Given the description of an element on the screen output the (x, y) to click on. 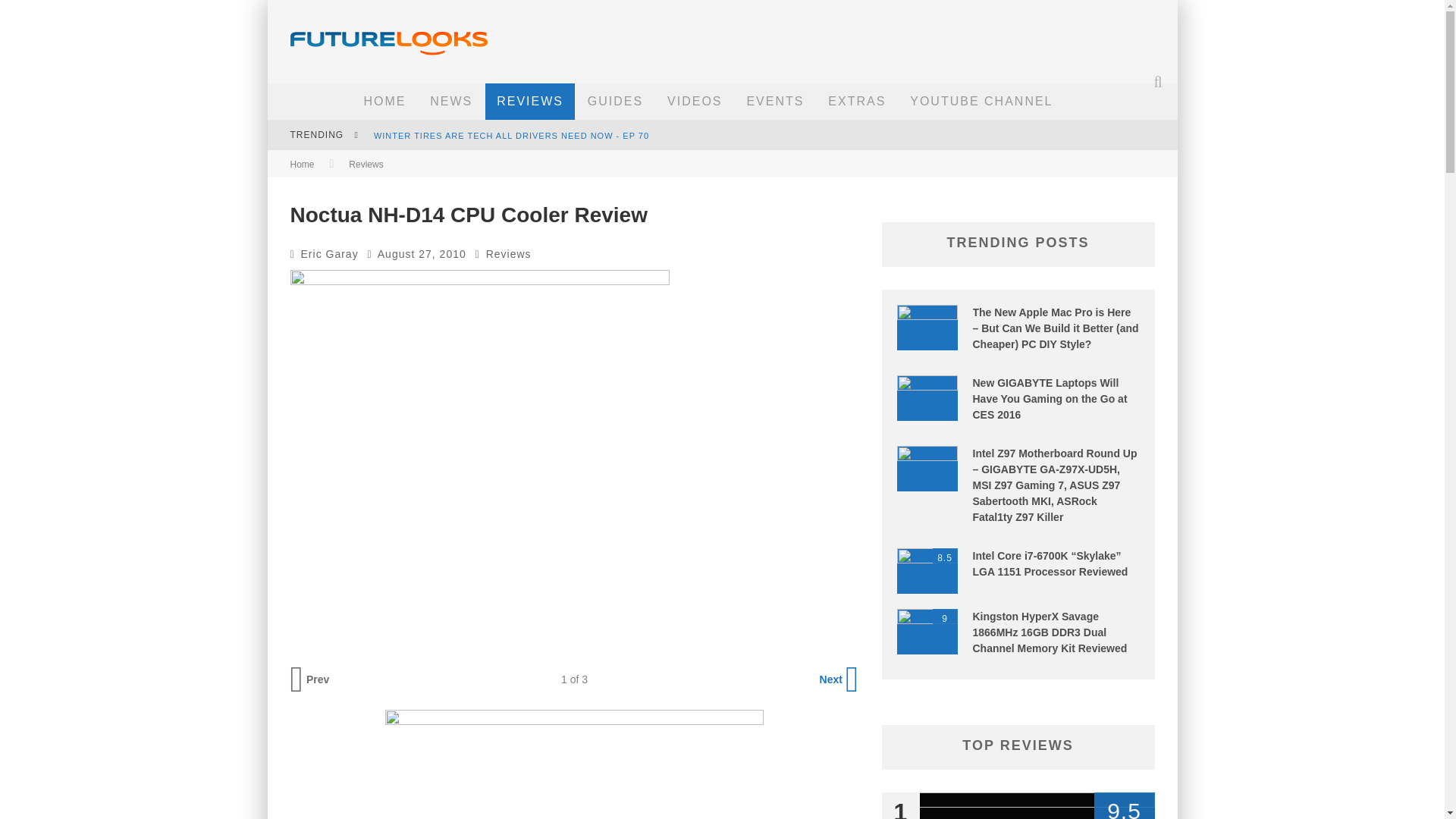
View all posts in Reviews (365, 163)
REVIEWS (529, 101)
View all posts in Reviews (508, 254)
Winter Tires Are Tech ALL Drivers Need Now - EP 70 (511, 135)
HOME (384, 101)
NEWS (451, 101)
